Given the description of an element on the screen output the (x, y) to click on. 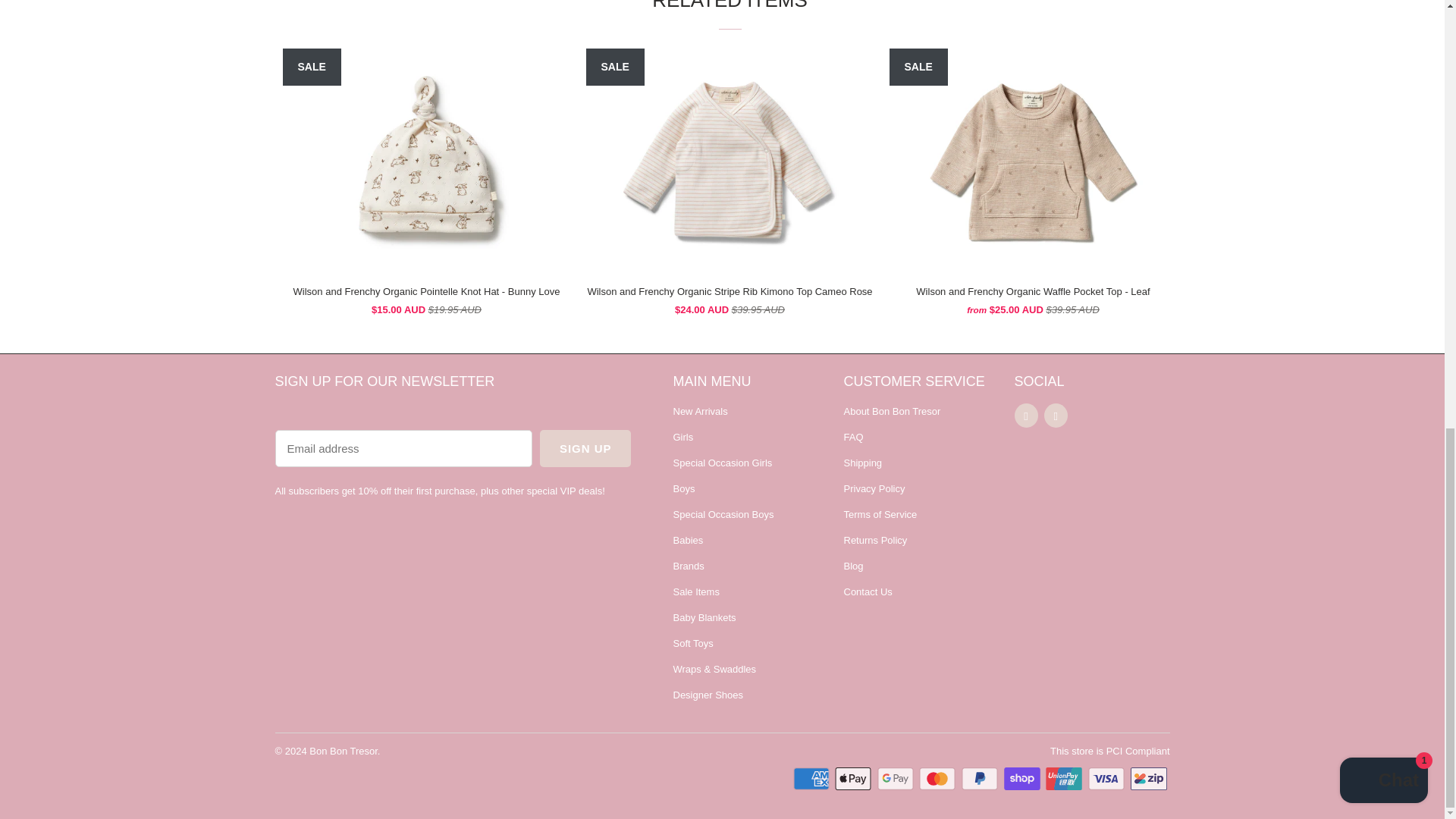
Bon Bon Tresor on Instagram (1055, 415)
Bon Bon Tresor on Facebook (1026, 415)
Sign Up (585, 447)
